Given the description of an element on the screen output the (x, y) to click on. 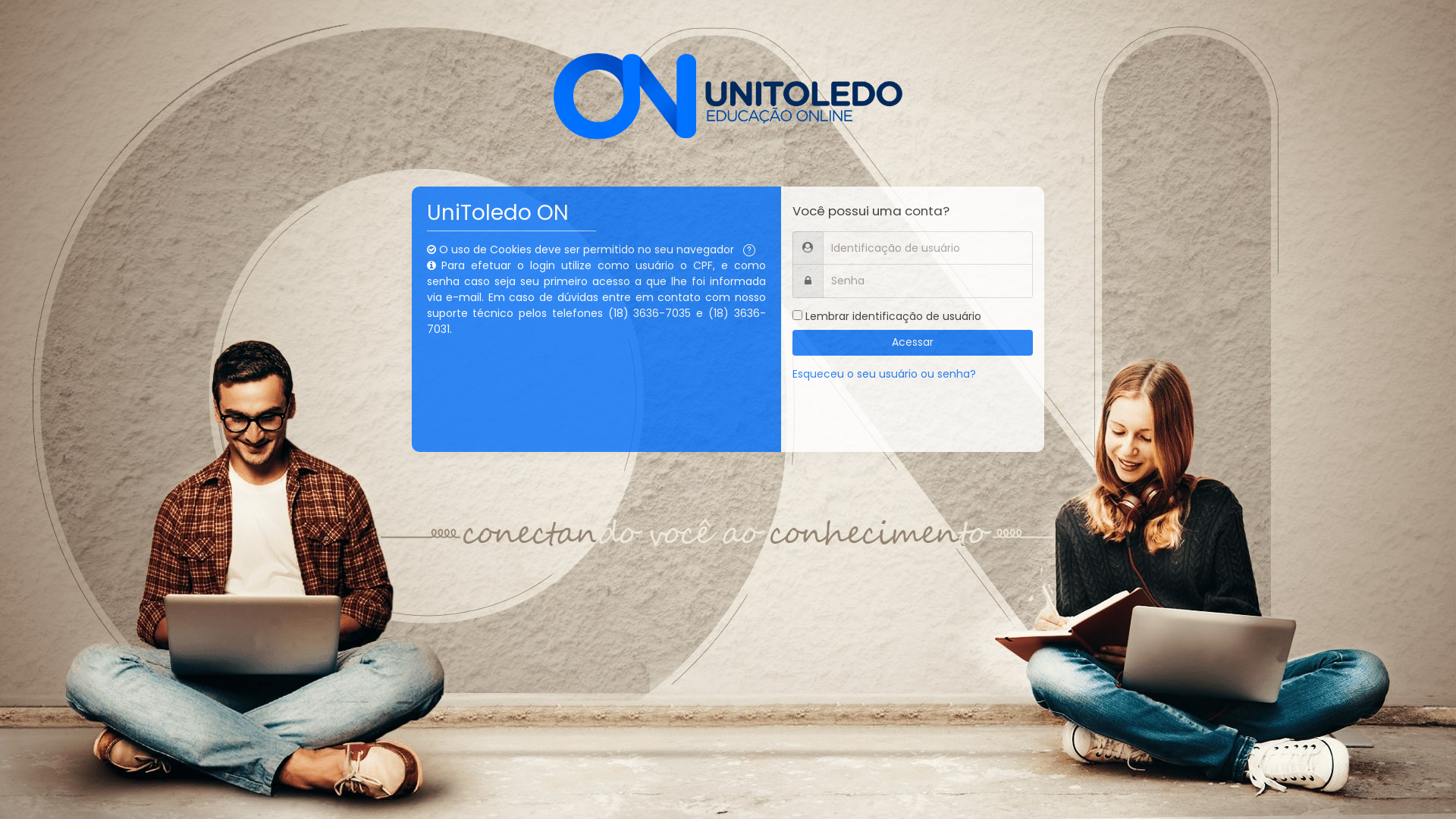
Acessar Element type: text (912, 342)
UniToledo ON Element type: hover (727, 95)
